Given the description of an element on the screen output the (x, y) to click on. 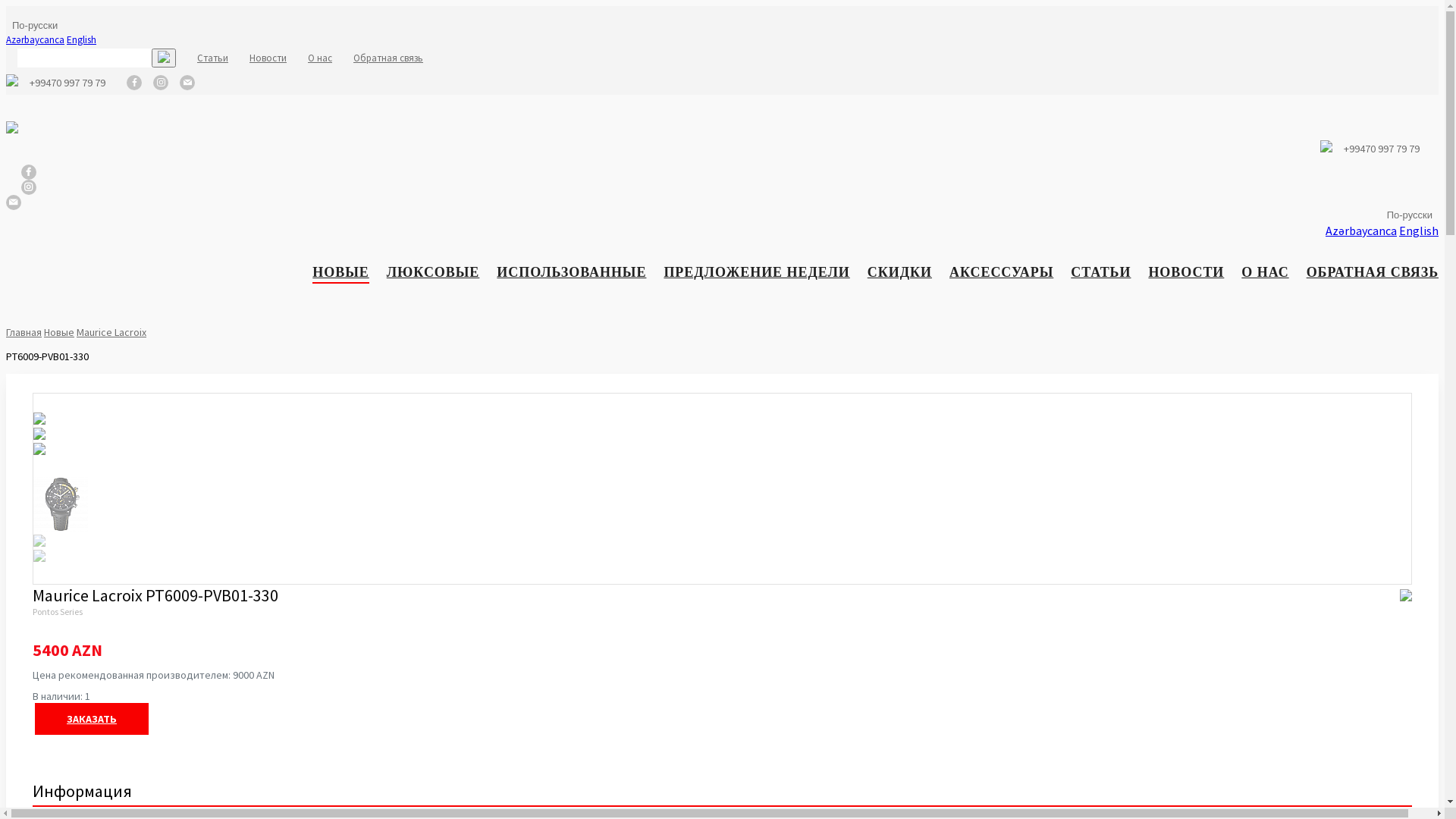
English Element type: text (1418, 230)
Maurice Lacroix Element type: text (111, 331)
English Element type: text (81, 39)
